Given the description of an element on the screen output the (x, y) to click on. 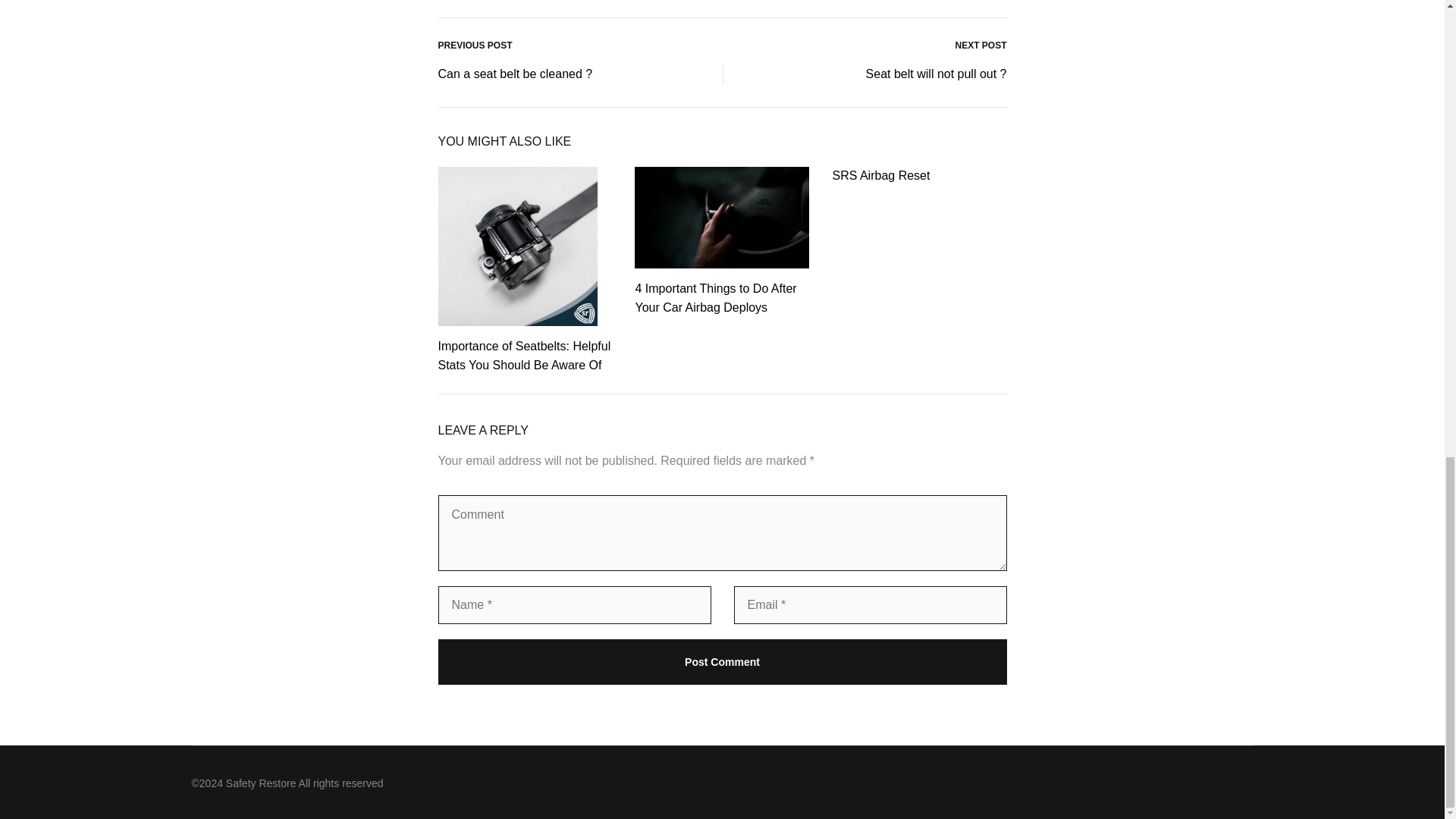
Can a seat belt be cleaned ? (515, 74)
4 Important Things to Do After Your Car Airbag Deploys (715, 297)
SRS Airbag Reset (880, 174)
Seat belt will not pull out ? (936, 74)
Post Comment (722, 661)
Post Comment (722, 661)
